Given the description of an element on the screen output the (x, y) to click on. 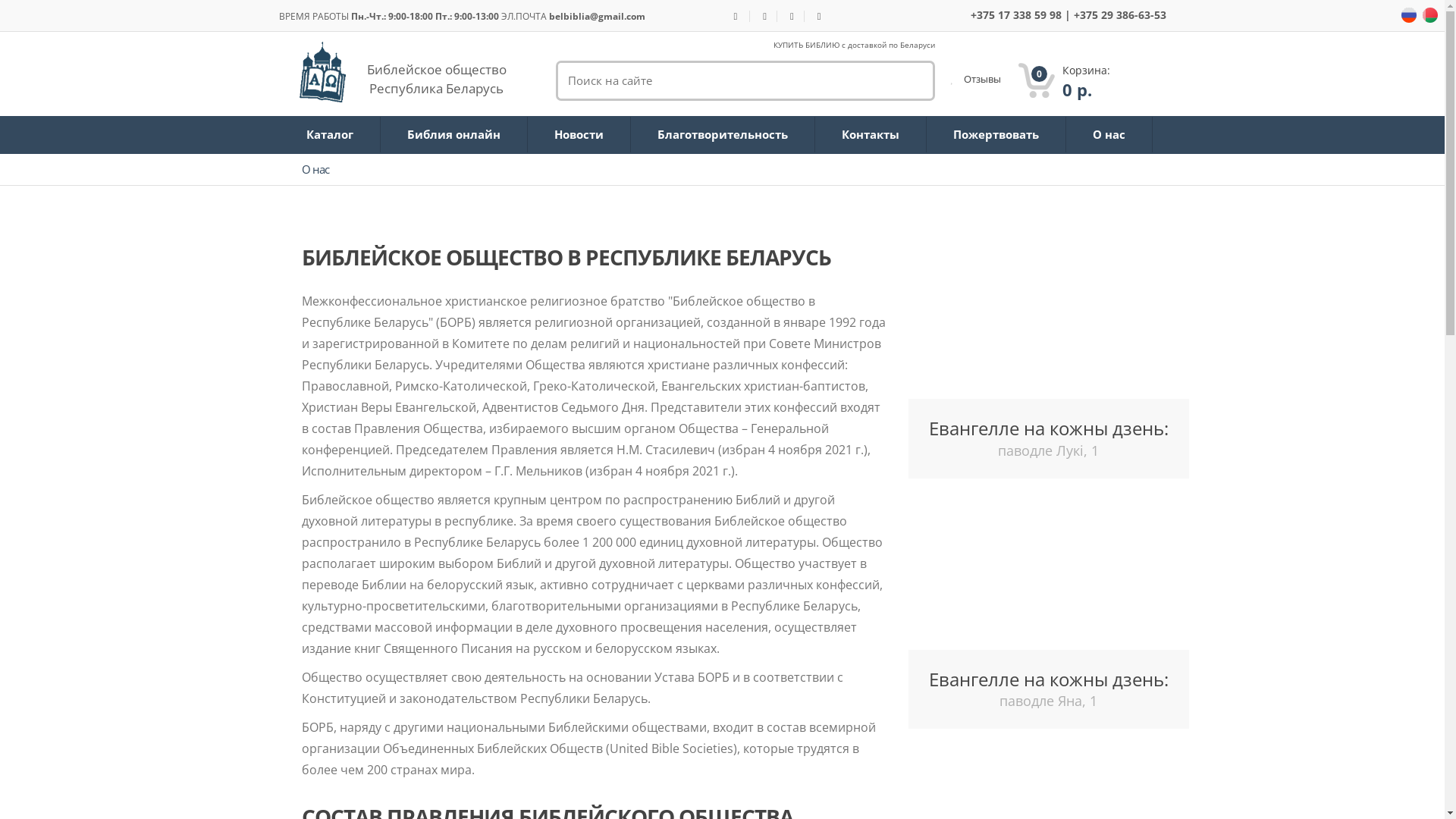
ru Element type: hover (1430, 13)
